Given the description of an element on the screen output the (x, y) to click on. 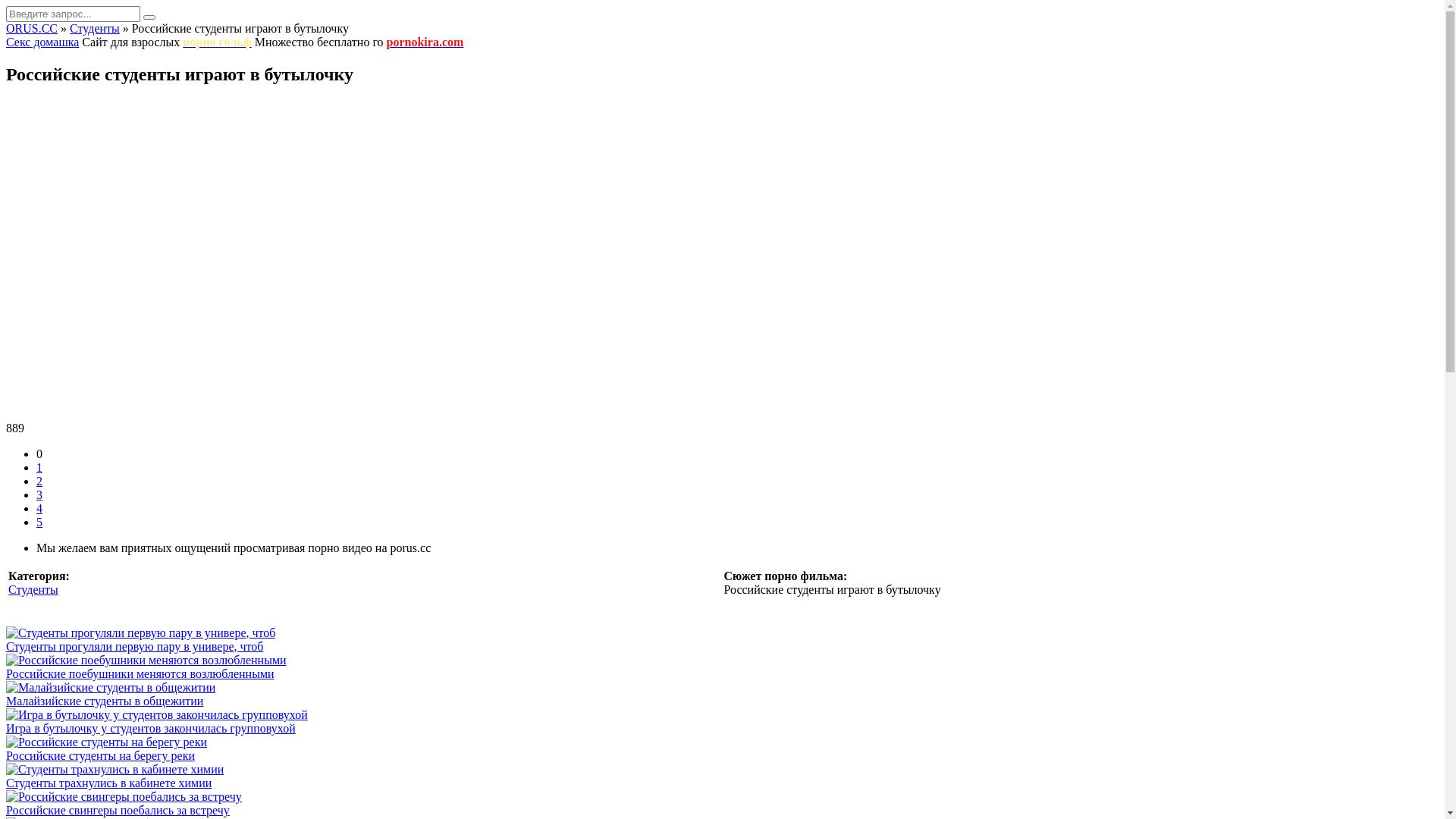
5 Element type: text (39, 521)
pornokira.com Element type: text (425, 41)
1 Element type: text (39, 467)
2 Element type: text (39, 480)
4 Element type: text (39, 508)
ORUS.CC Element type: text (31, 27)
3 Element type: text (39, 494)
